Given the description of an element on the screen output the (x, y) to click on. 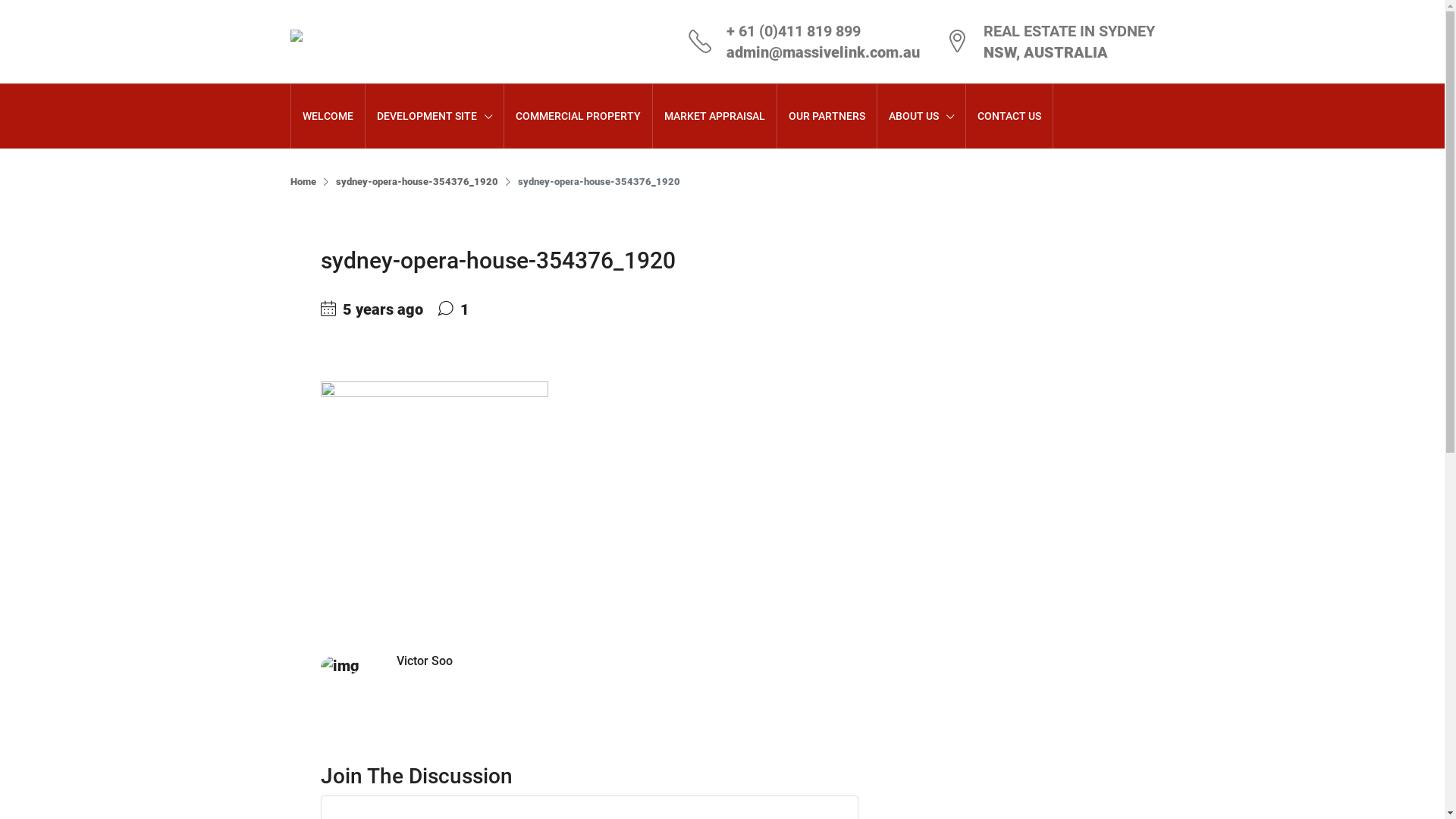
ABOUT US Element type: text (920, 116)
+ 61 (0)411 819 899 Element type: text (793, 30)
DEVELOPMENT SITE Element type: text (434, 116)
sydney-opera-house-354376_1920 Element type: text (416, 181)
MARKET APPRAISAL Element type: text (713, 115)
admin@massivelink.com.au Element type: text (822, 52)
CONTACT US Element type: text (1009, 115)
WELCOME Element type: text (327, 115)
OUR PARTNERS Element type: text (825, 115)
COMMERCIAL PROPERTY Element type: text (577, 115)
Home Element type: text (302, 181)
